Given the description of an element on the screen output the (x, y) to click on. 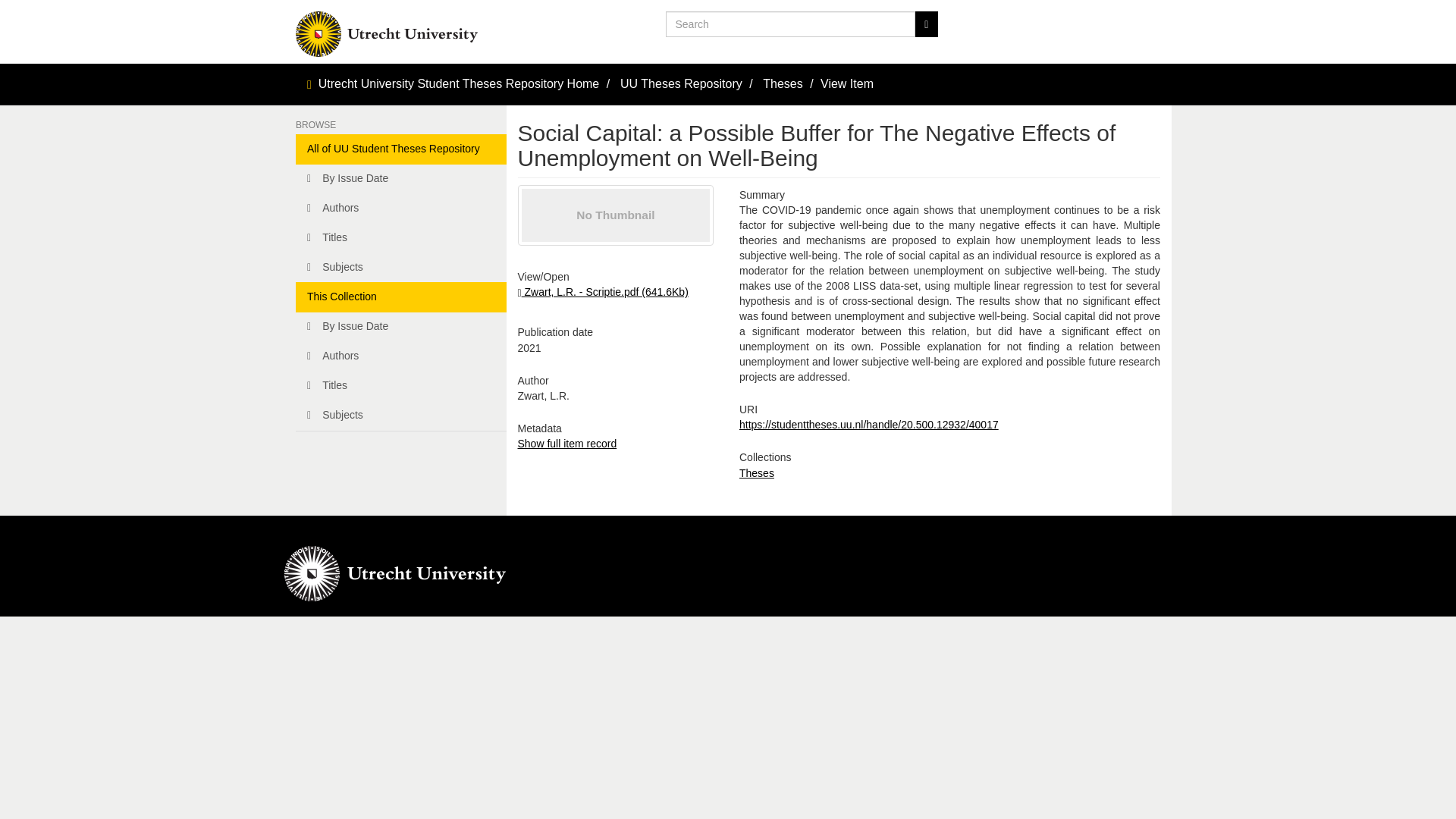
Authors (400, 208)
Titles (400, 237)
Titles (400, 386)
Utrecht University Student Theses Repository Home (458, 83)
Subjects (400, 415)
This Collection (400, 296)
By Issue Date (400, 178)
UU Theses Repository (681, 83)
All of UU Student Theses Repository (400, 149)
Authors (400, 356)
By Issue Date (400, 327)
Go (925, 23)
Theses (756, 472)
Subjects (400, 267)
Theses (782, 83)
